Given the description of an element on the screen output the (x, y) to click on. 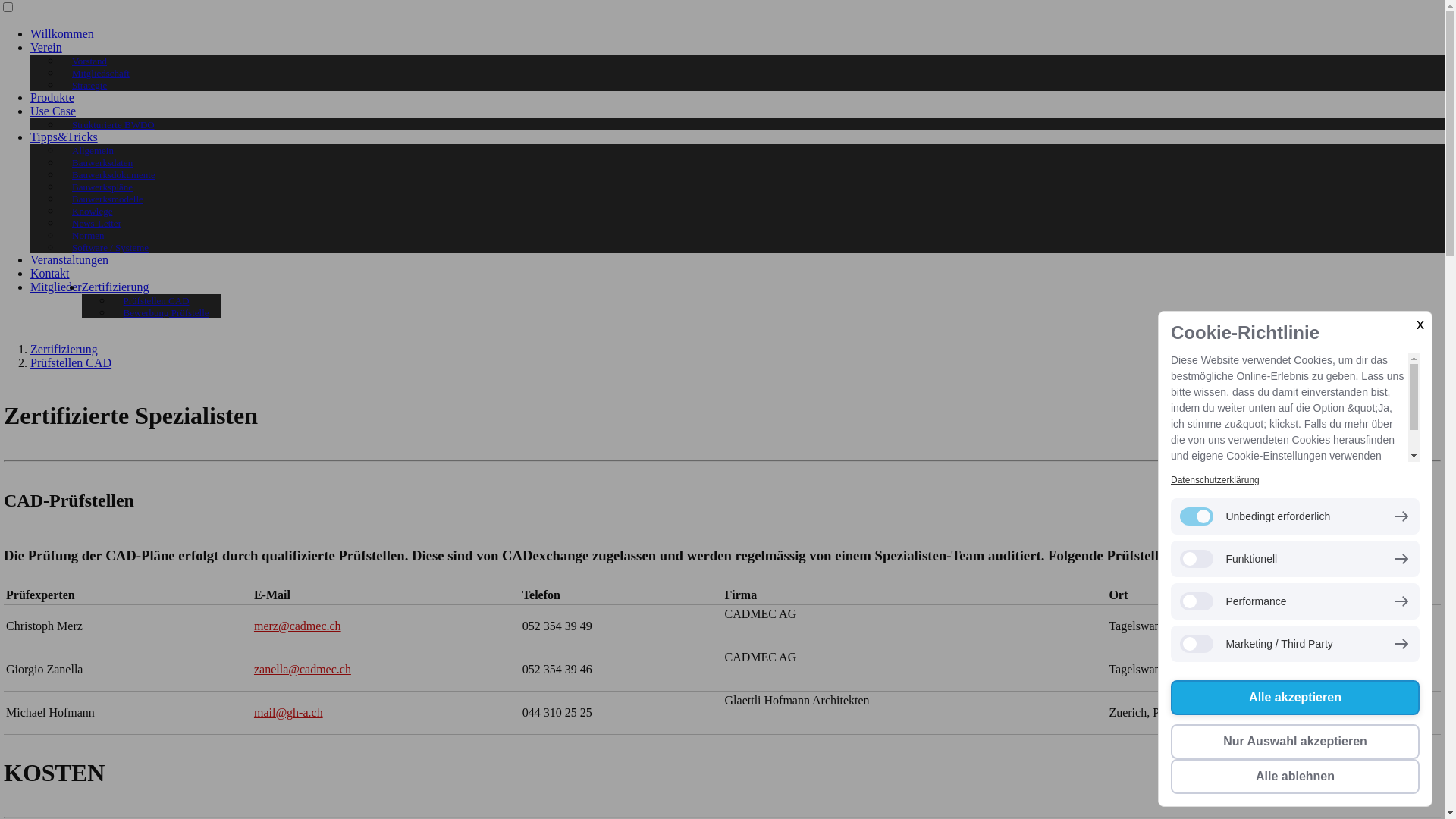
Bauwerksdaten Element type: text (102, 162)
Allgemein Element type: text (92, 150)
Use Case Element type: text (52, 110)
mail@gh-a.ch Element type: text (288, 712)
Veranstaltungen Element type: text (69, 259)
Produkte Element type: text (52, 97)
Knowlege Element type: text (91, 210)
Kontakt Element type: text (49, 272)
Strategie Element type: text (89, 84)
Software / Systeme Element type: text (110, 247)
Mitglieder Element type: text (55, 286)
Nur Auswahl akzeptieren Element type: text (1294, 741)
Mitgliedschaft Element type: text (100, 72)
merz@cadmec.ch Element type: text (297, 625)
Alle akzeptieren Element type: text (1294, 697)
Zertifizierung Element type: text (115, 286)
Verein Element type: text (46, 46)
Normen Element type: text (88, 234)
News-Letter Element type: text (96, 222)
Willkommen Element type: text (62, 33)
zanella@cadmec.ch Element type: text (302, 668)
Alle ablehnen Element type: text (1294, 776)
Zertifizierung Element type: text (63, 348)
Strukturierte BWDO Element type: text (113, 124)
Tipps&Tricks Element type: text (63, 136)
Bauwerksdokumente Element type: text (113, 174)
Bauwerksmodelle Element type: text (107, 198)
Vorstand Element type: text (89, 60)
